Given the description of an element on the screen output the (x, y) to click on. 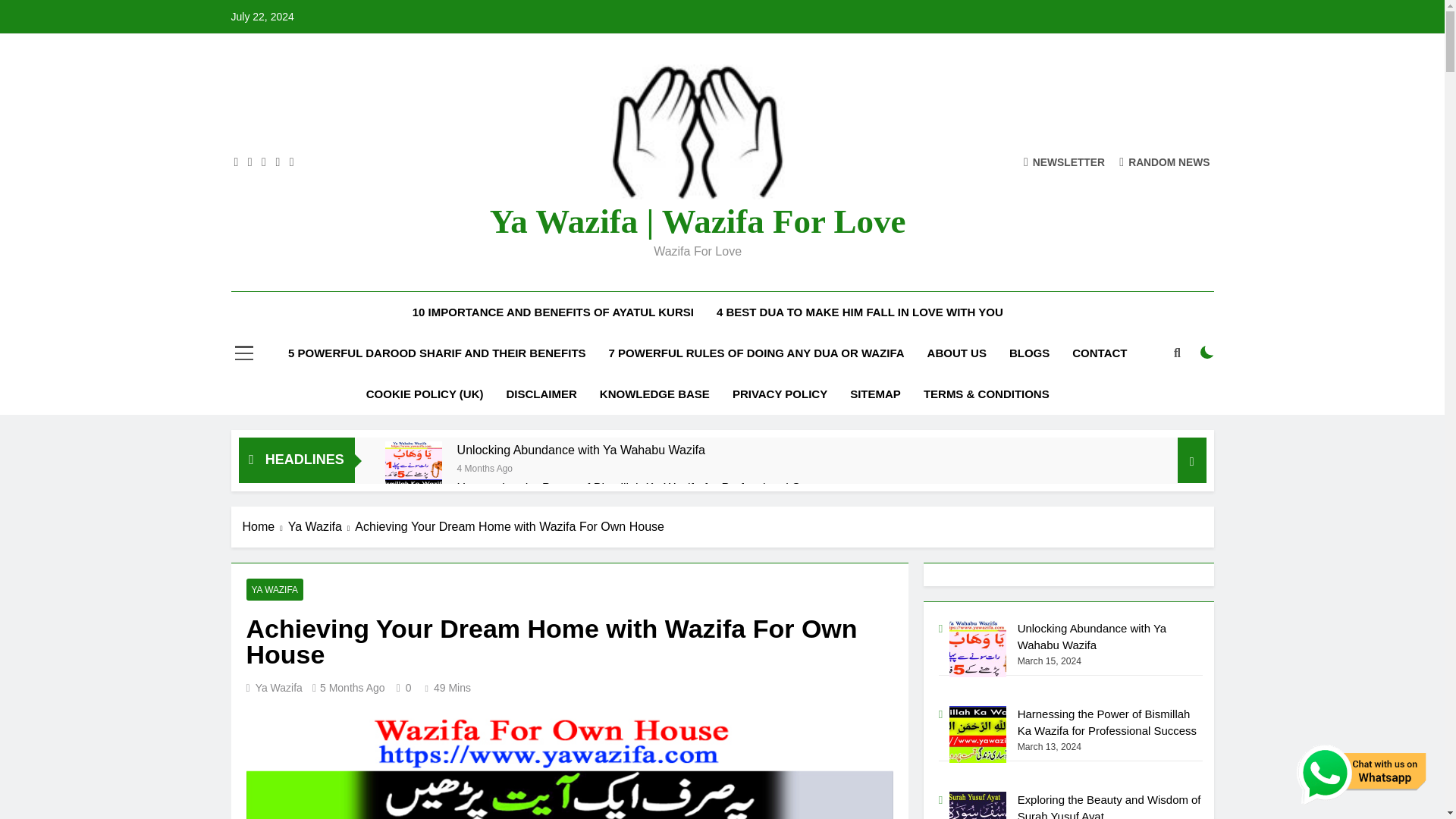
7 POWERFUL RULES OF DOING ANY DUA OR WAZIFA (755, 352)
Unlocking Abundance with Ya Wahabu Wazifa (580, 450)
Unlocking Abundance with Ya Wahabu Wazifa (413, 460)
10 IMPORTANCE AND BENEFITS OF AYATUL KURSI (552, 311)
ABOUT US (956, 352)
DISCLAIMER (541, 393)
KNOWLEDGE BASE (654, 393)
SITEMAP (875, 393)
4 BEST DUA TO MAKE HIM FALL IN LOVE WITH YOU (859, 311)
CONTACT (1099, 352)
PRIVACY POLICY (779, 393)
on (1206, 352)
